Given the description of an element on the screen output the (x, y) to click on. 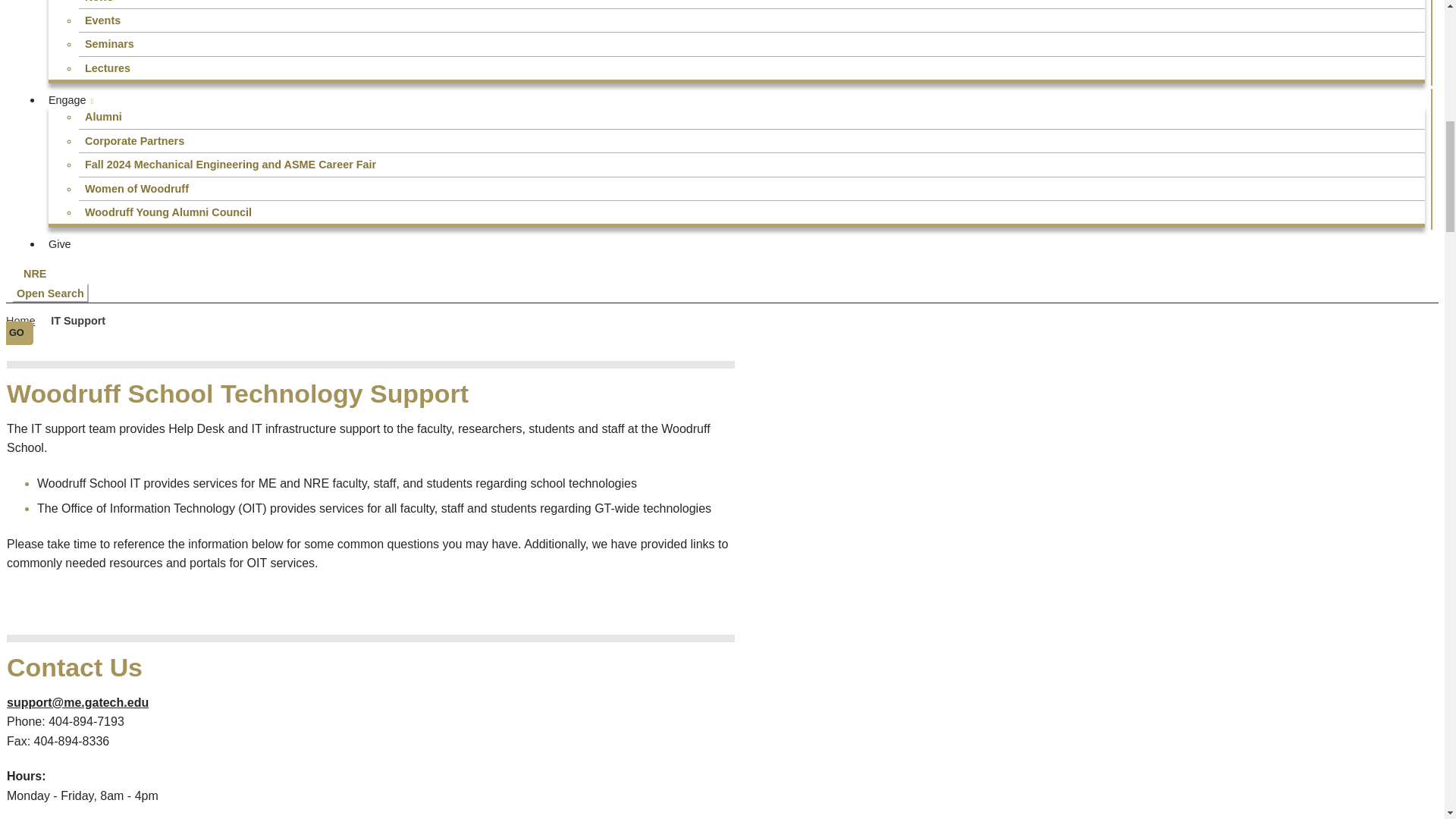
Events (751, 20)
open search (49, 292)
Seminars (751, 43)
Lectures (751, 67)
GO (16, 332)
